Given the description of an element on the screen output the (x, y) to click on. 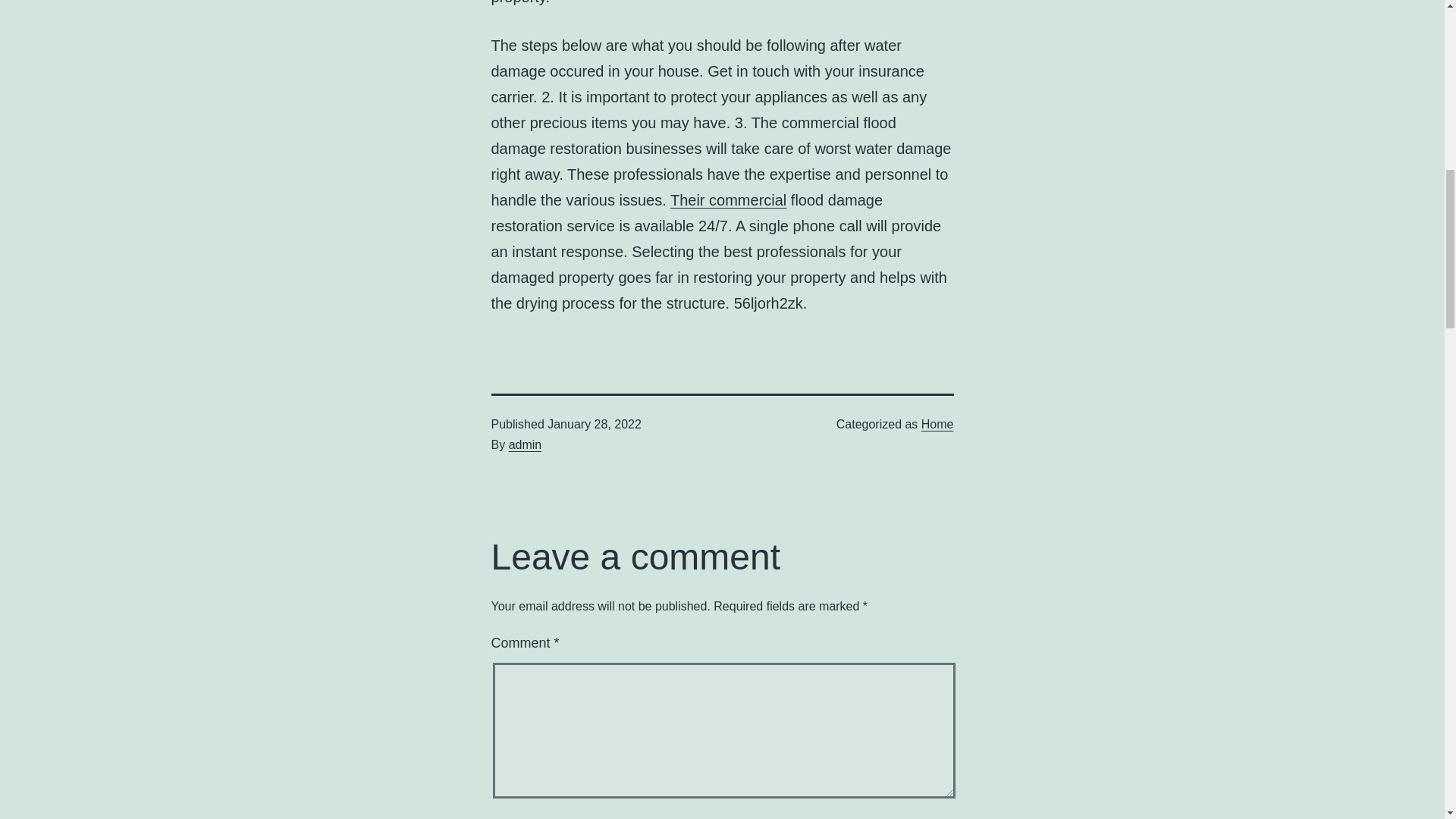
Their commercial (727, 199)
Home (937, 423)
admin (524, 444)
